Given the description of an element on the screen output the (x, y) to click on. 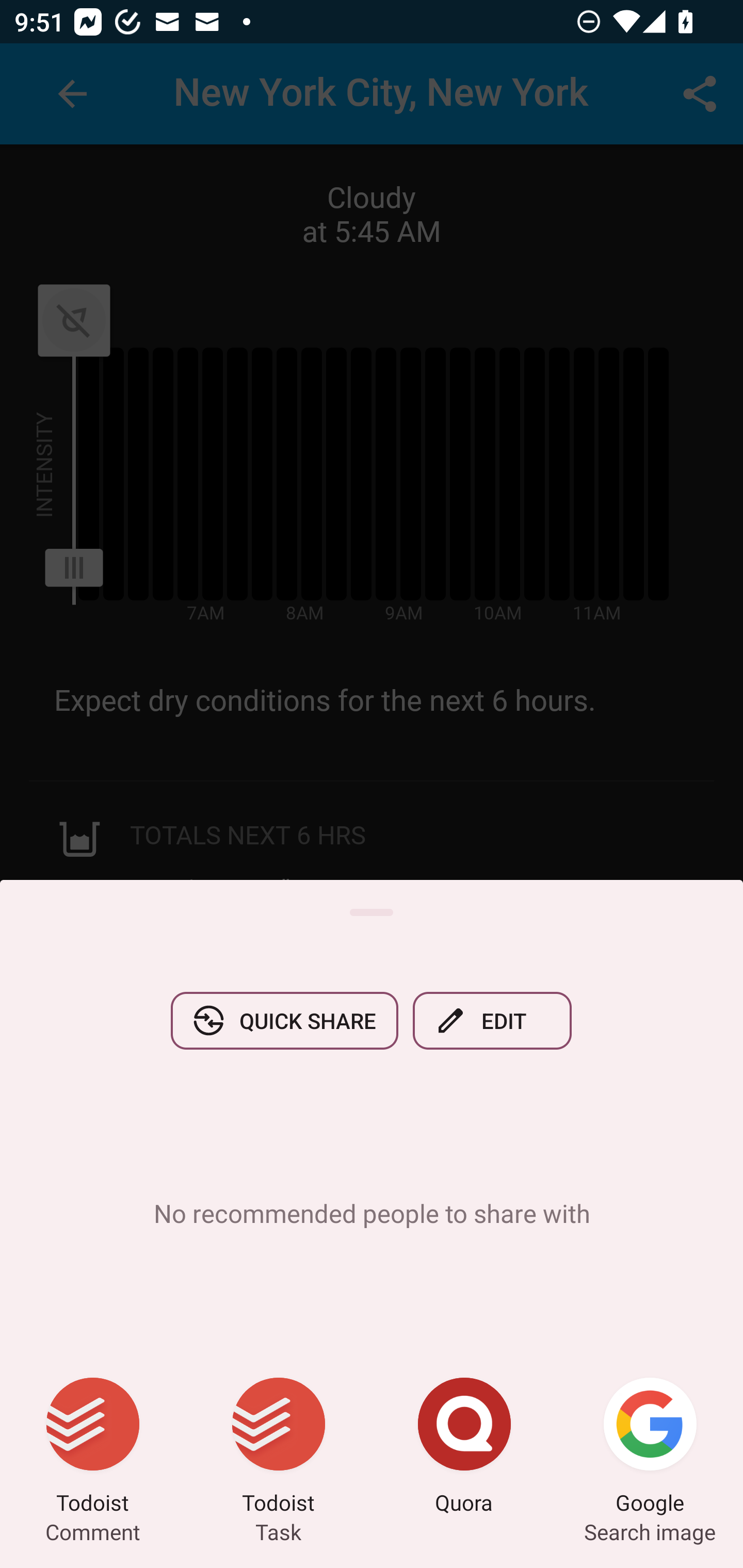
QUICK SHARE (284, 1020)
EDIT (492, 1020)
Todoist Comment (92, 1448)
Todoist Task (278, 1448)
Quora (464, 1448)
Google Search image (650, 1448)
